Given the description of an element on the screen output the (x, y) to click on. 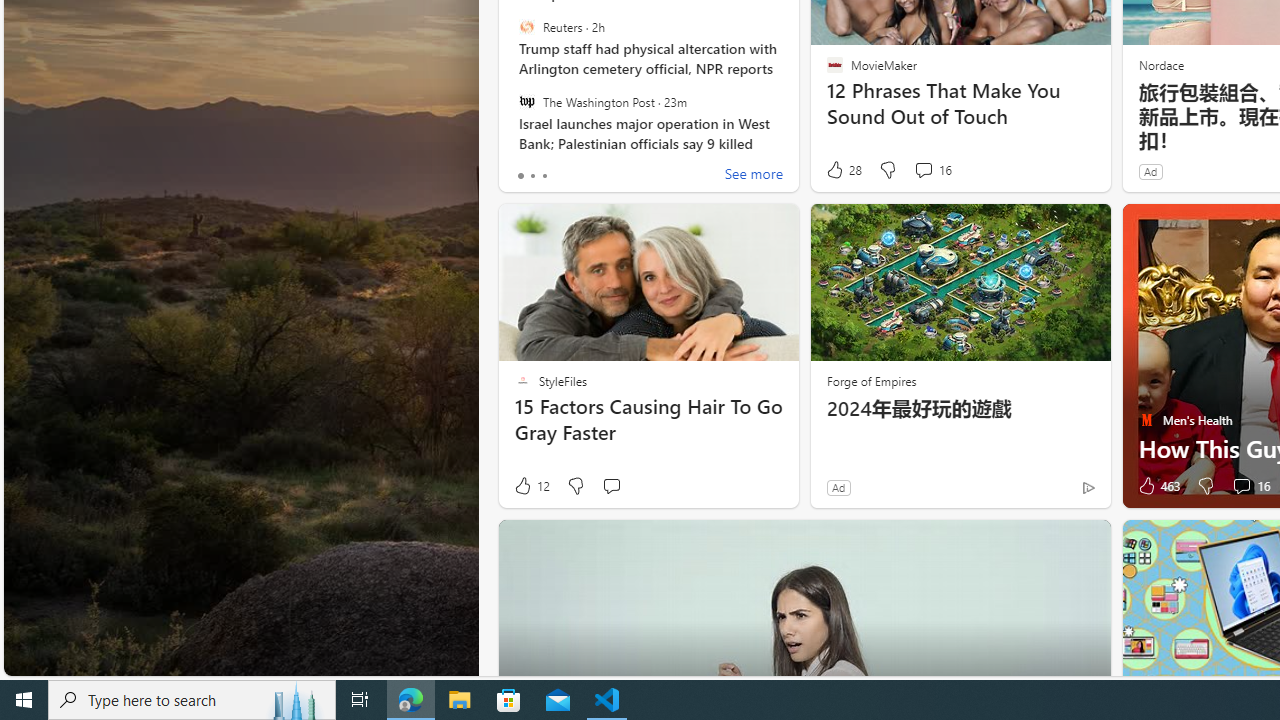
tab-2 (543, 175)
View comments 16 Comment (1249, 485)
28 Like (843, 170)
The Washington Post (526, 101)
